Given the description of an element on the screen output the (x, y) to click on. 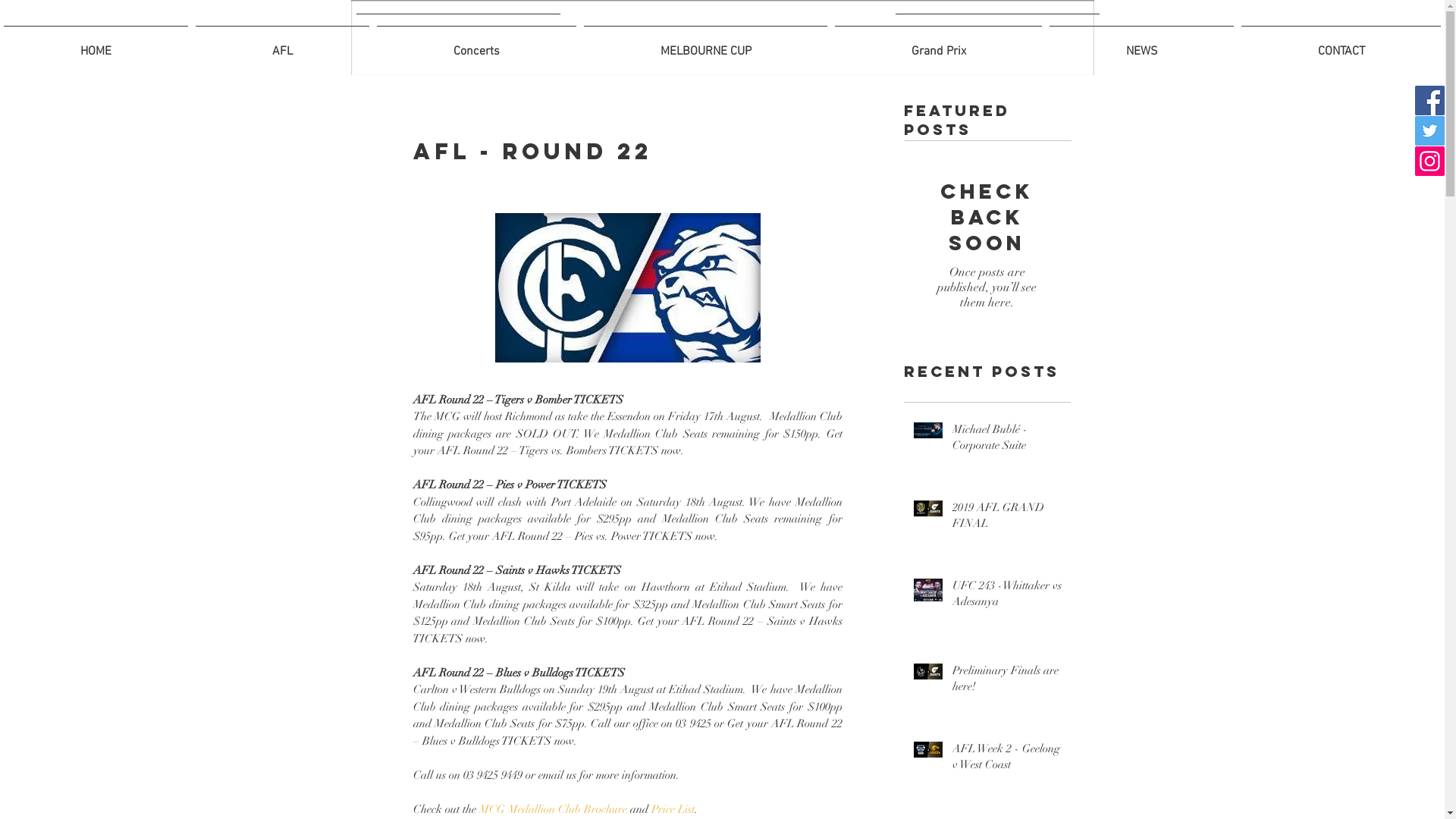
2019 AFL GRAND FINAL Element type: text (1006, 518)
AFL Week 2 - Geelong v West Coast Element type: text (1006, 759)
Concerts Element type: text (476, 44)
Grand Prix Element type: text (938, 44)
NEWS Element type: text (1141, 44)
AFL Element type: text (282, 44)
Preliminary Finals are here! Element type: text (1006, 681)
MCG Medallion Club Brochure Element type: text (553, 808)
CONTACT Element type: text (1340, 44)
Price List Element type: text (671, 808)
MELBOURNE CUP Element type: text (705, 44)
UFC 243 -Whittaker vs Adesanya Element type: text (1006, 596)
HOME Element type: text (95, 44)
